Given the description of an element on the screen output the (x, y) to click on. 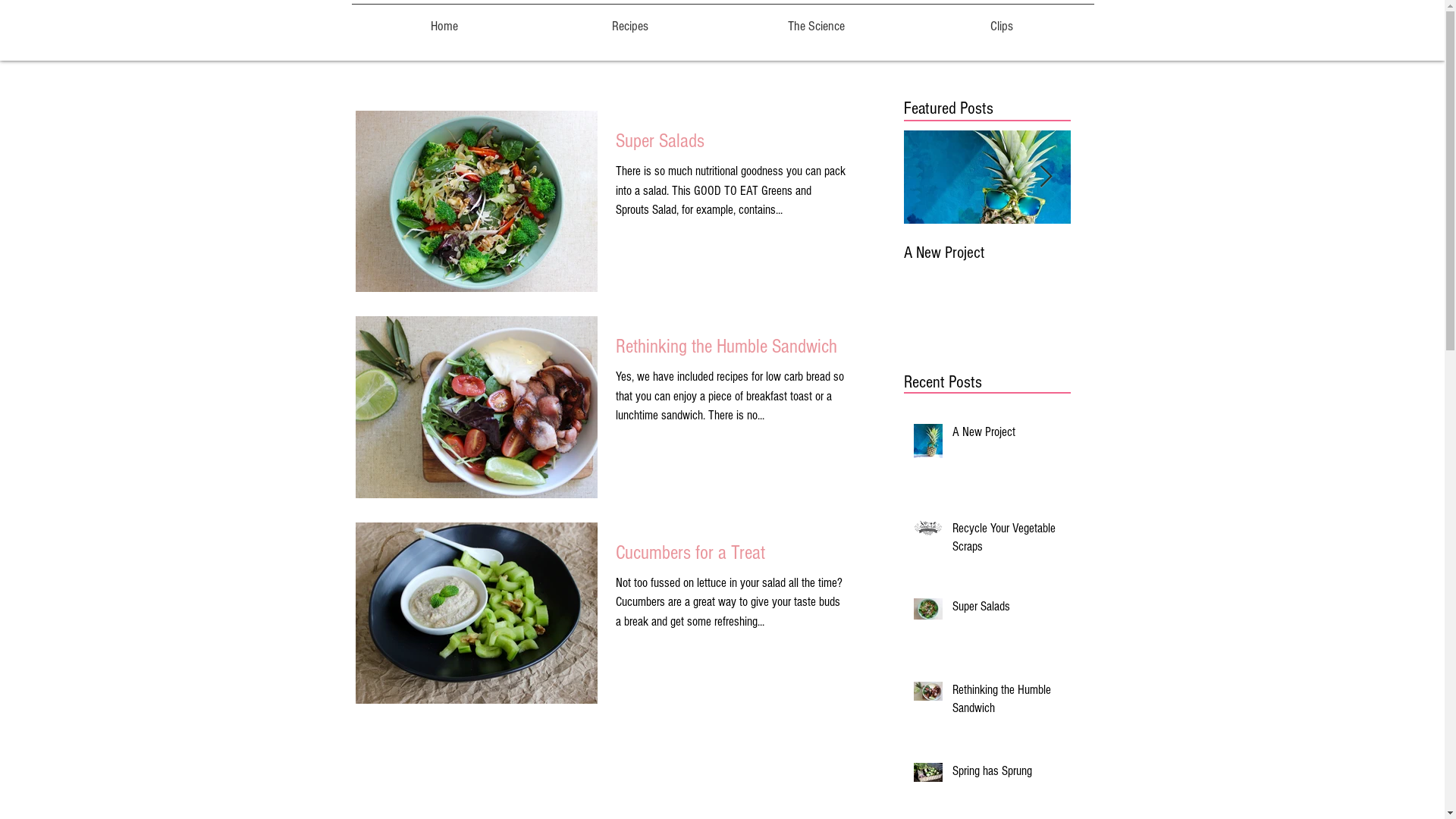
A New Project Element type: text (1006, 435)
Rethinking the Humble Sandwich Element type: text (1006, 701)
Home Element type: text (444, 19)
Recycle Your Vegetable Scraps Element type: text (1006, 540)
Super Salads Element type: text (1006, 609)
Spring has Sprung Element type: text (1006, 774)
Super Salads Element type: text (1320, 252)
A New Project Element type: text (986, 252)
Super Salads Element type: text (730, 144)
Rethinking the Humble Sandwich Element type: text (730, 350)
Recipes Element type: text (629, 19)
The Science Element type: text (816, 19)
Recycle Your Vegetable Scraps Element type: text (1153, 262)
Clips Element type: text (1000, 19)
Cucumbers for a Treat Element type: text (730, 556)
